Given the description of an element on the screen output the (x, y) to click on. 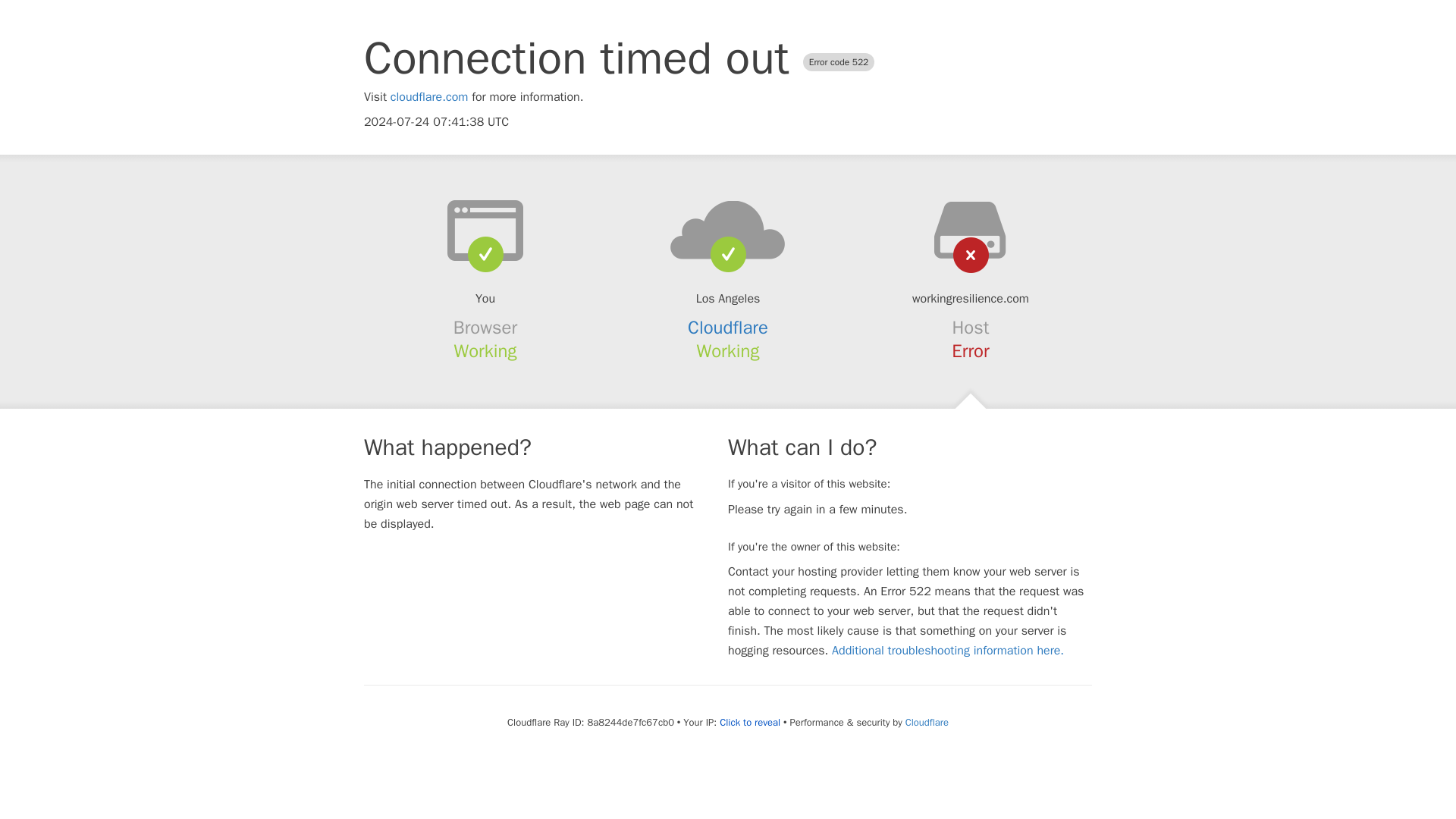
Additional troubleshooting information here. (947, 650)
Cloudflare (927, 721)
cloudflare.com (429, 96)
Cloudflare (727, 327)
Click to reveal (749, 722)
